Given the description of an element on the screen output the (x, y) to click on. 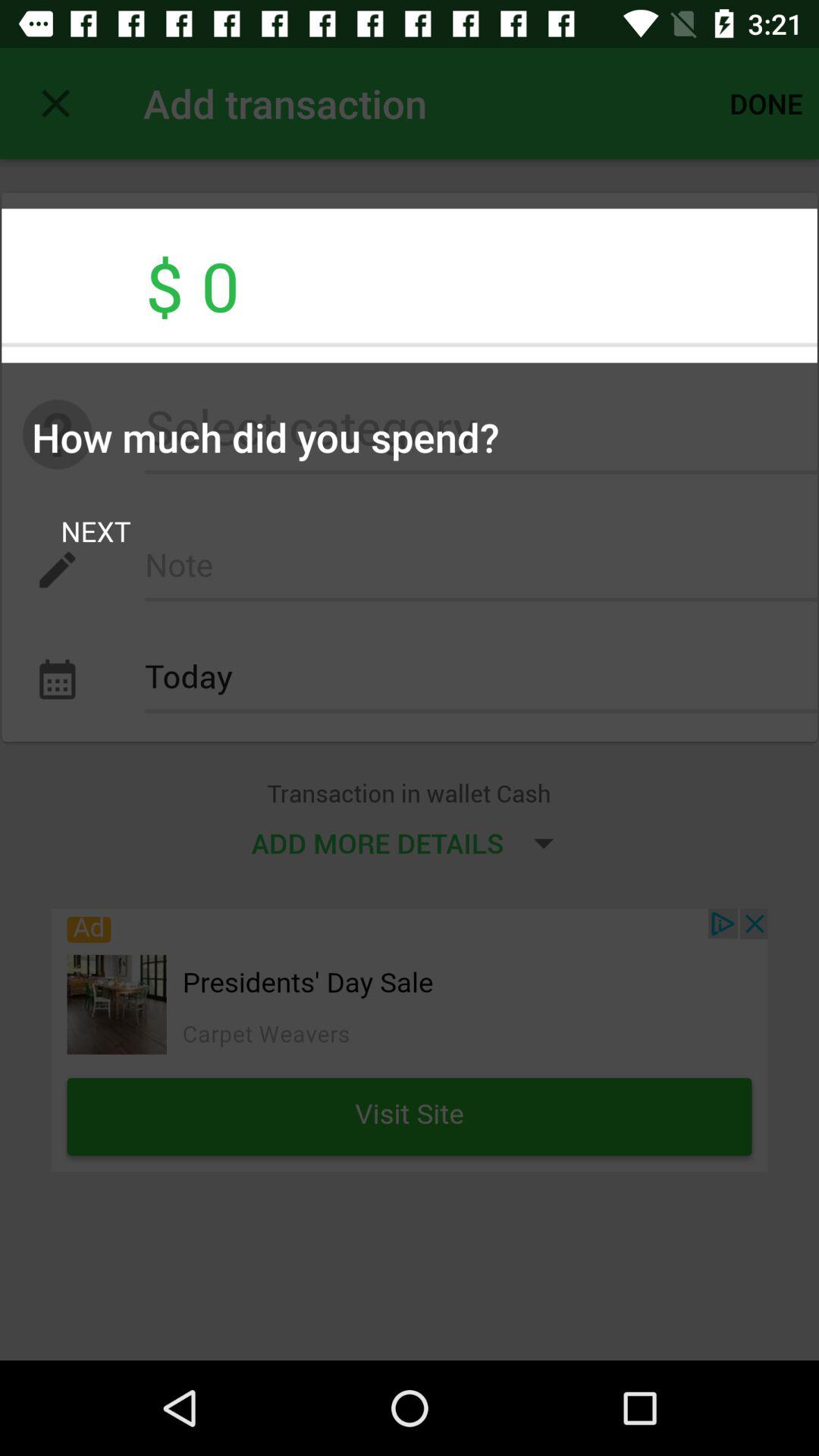
press the item to the right of add transaction icon (766, 103)
